Given the description of an element on the screen output the (x, y) to click on. 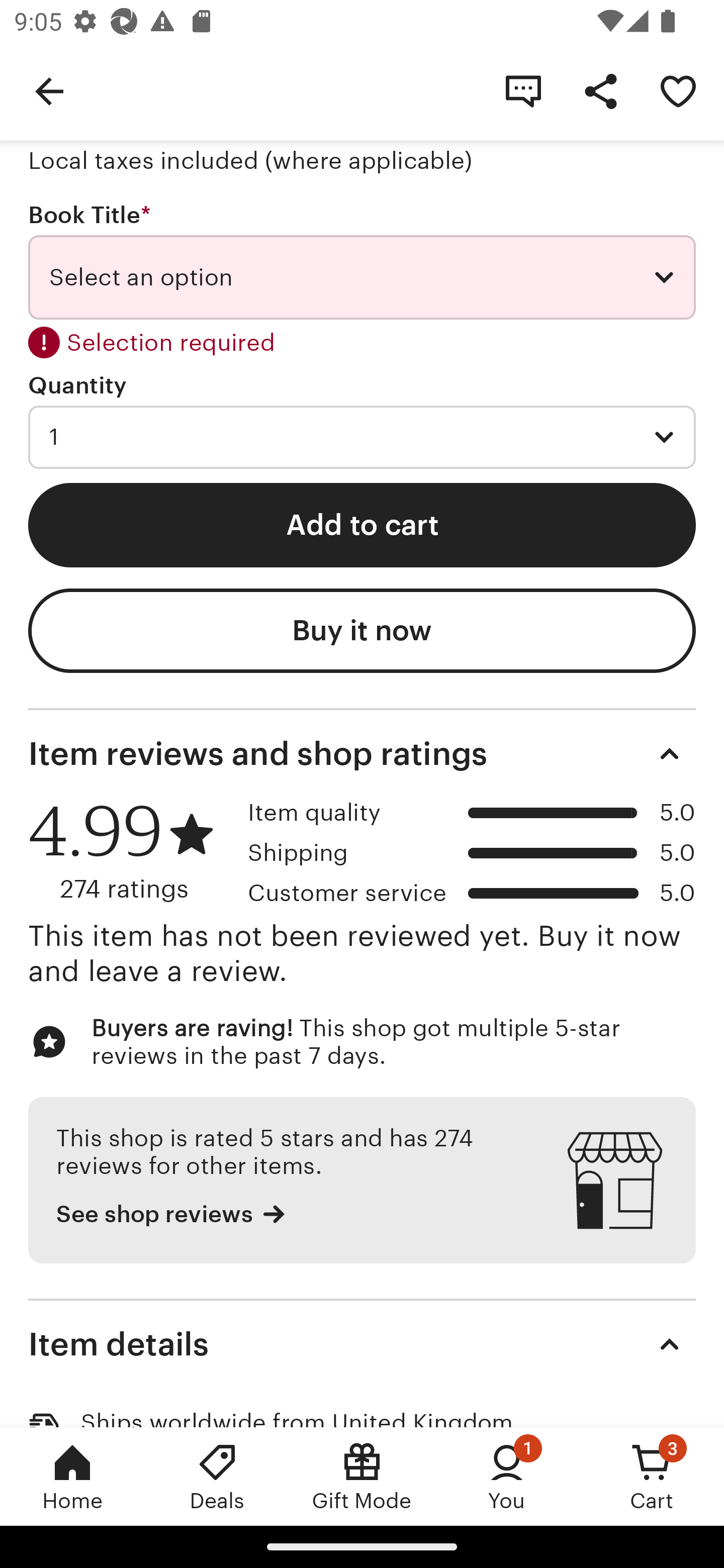
Navigate up (49, 90)
Contact shop (523, 90)
Share (600, 90)
Select an option (361, 277)
Quantity (77, 385)
1 (361, 437)
Add to cart (361, 524)
Buy it now (361, 630)
Item reviews and shop ratings (362, 753)
4.99 274 ratings (130, 851)
Item details (362, 1344)
Deals (216, 1475)
Gift Mode (361, 1475)
You, 1 new notification You (506, 1475)
Cart, 3 new notifications Cart (651, 1475)
